Given the description of an element on the screen output the (x, y) to click on. 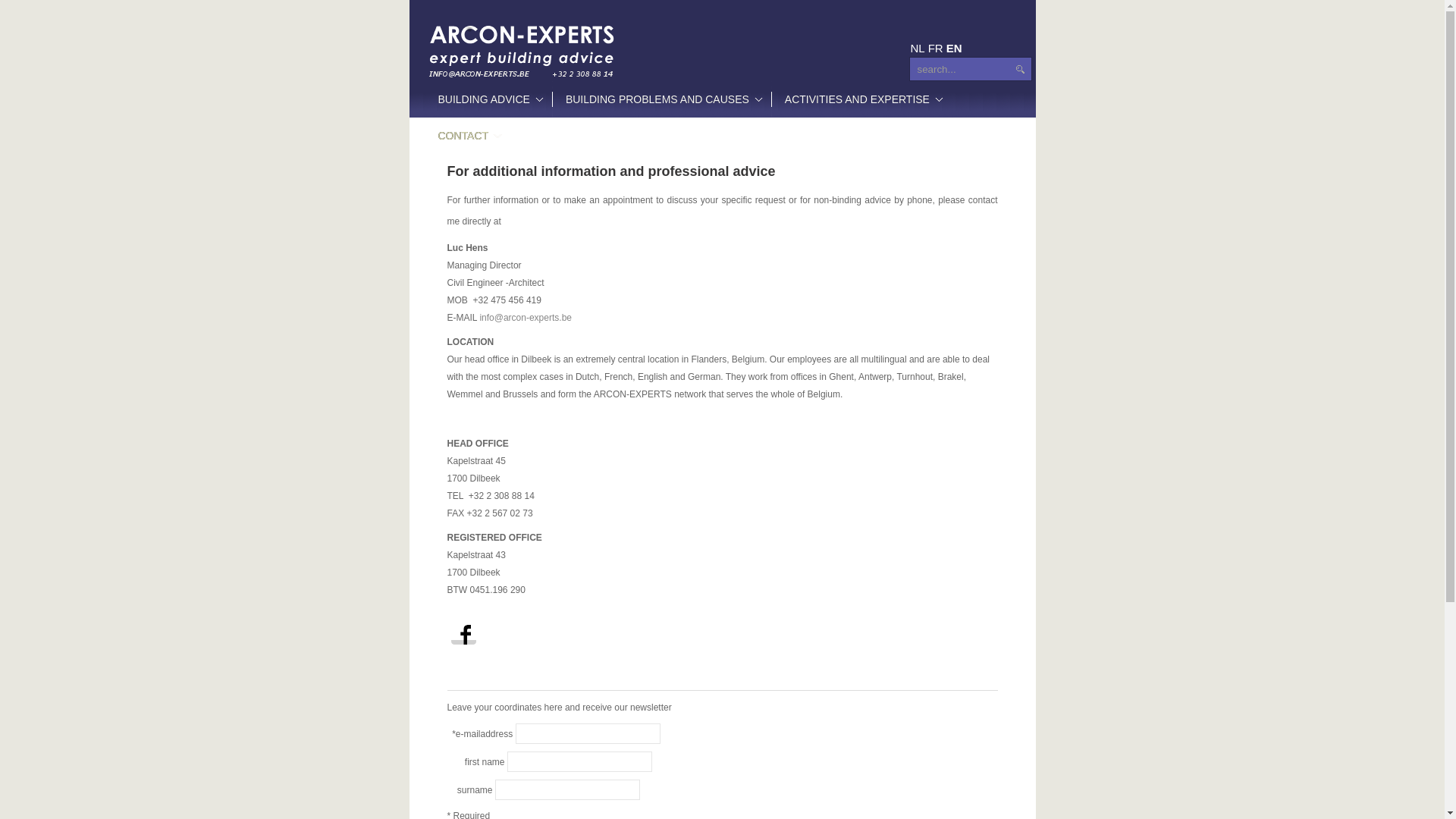
BUILDING ADVICE Element type: text (488, 99)
ACTIVITIES AND EXPERTISE Element type: text (861, 99)
EN Element type: text (954, 47)
NL Element type: text (917, 47)
info@arcon-experts.be Element type: text (525, 317)
FR Element type: text (935, 47)
BUILDING PROBLEMS AND CAUSES Element type: text (661, 99)
CONTACT Element type: text (467, 135)
